Given the description of an element on the screen output the (x, y) to click on. 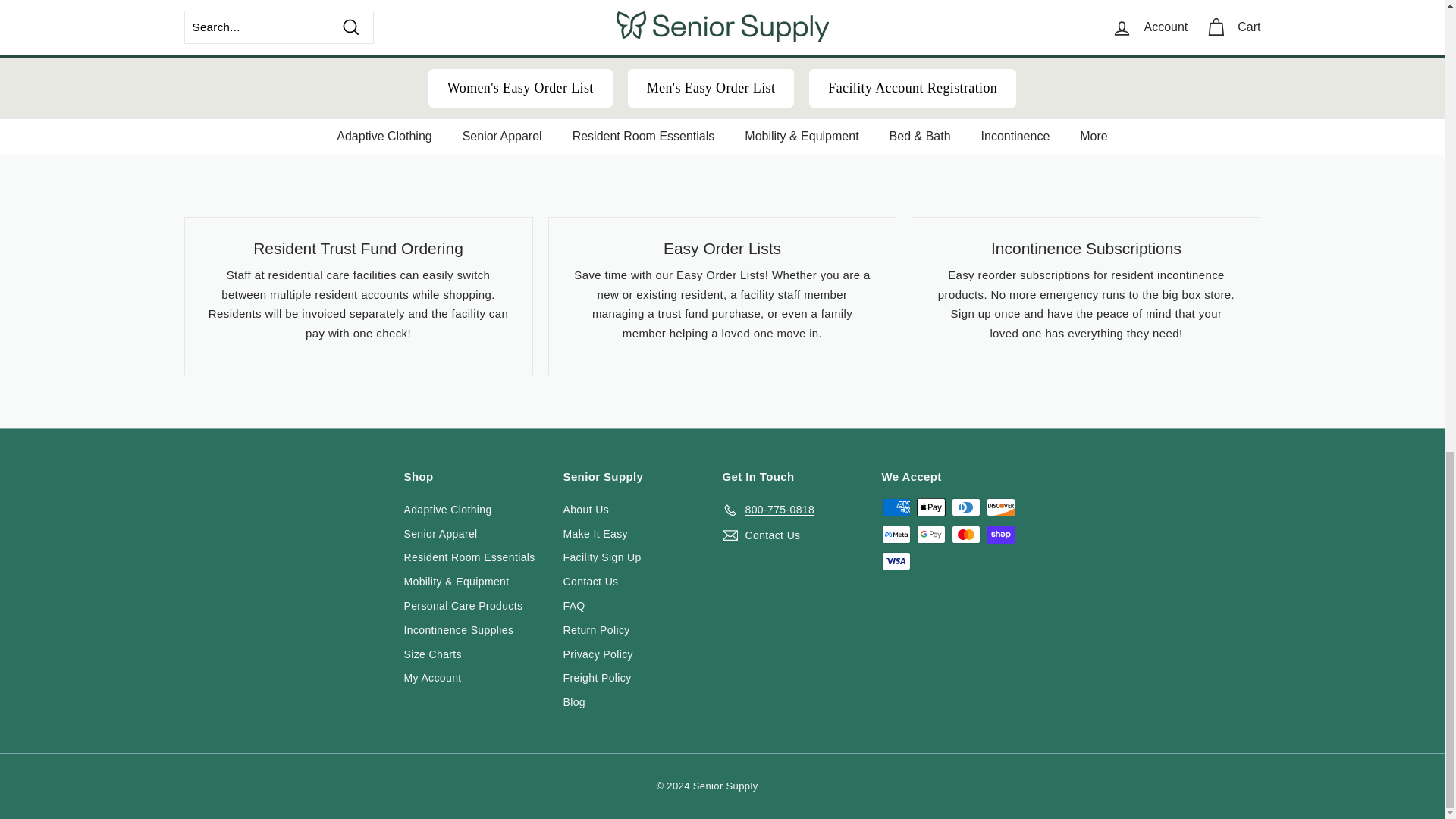
Diners Club (964, 506)
Discover (999, 506)
Visa (895, 561)
American Express (895, 506)
Shop Pay (999, 534)
Google Pay (929, 534)
Meta Pay (895, 534)
Mastercard (964, 534)
Apple Pay (929, 506)
